Given the description of an element on the screen output the (x, y) to click on. 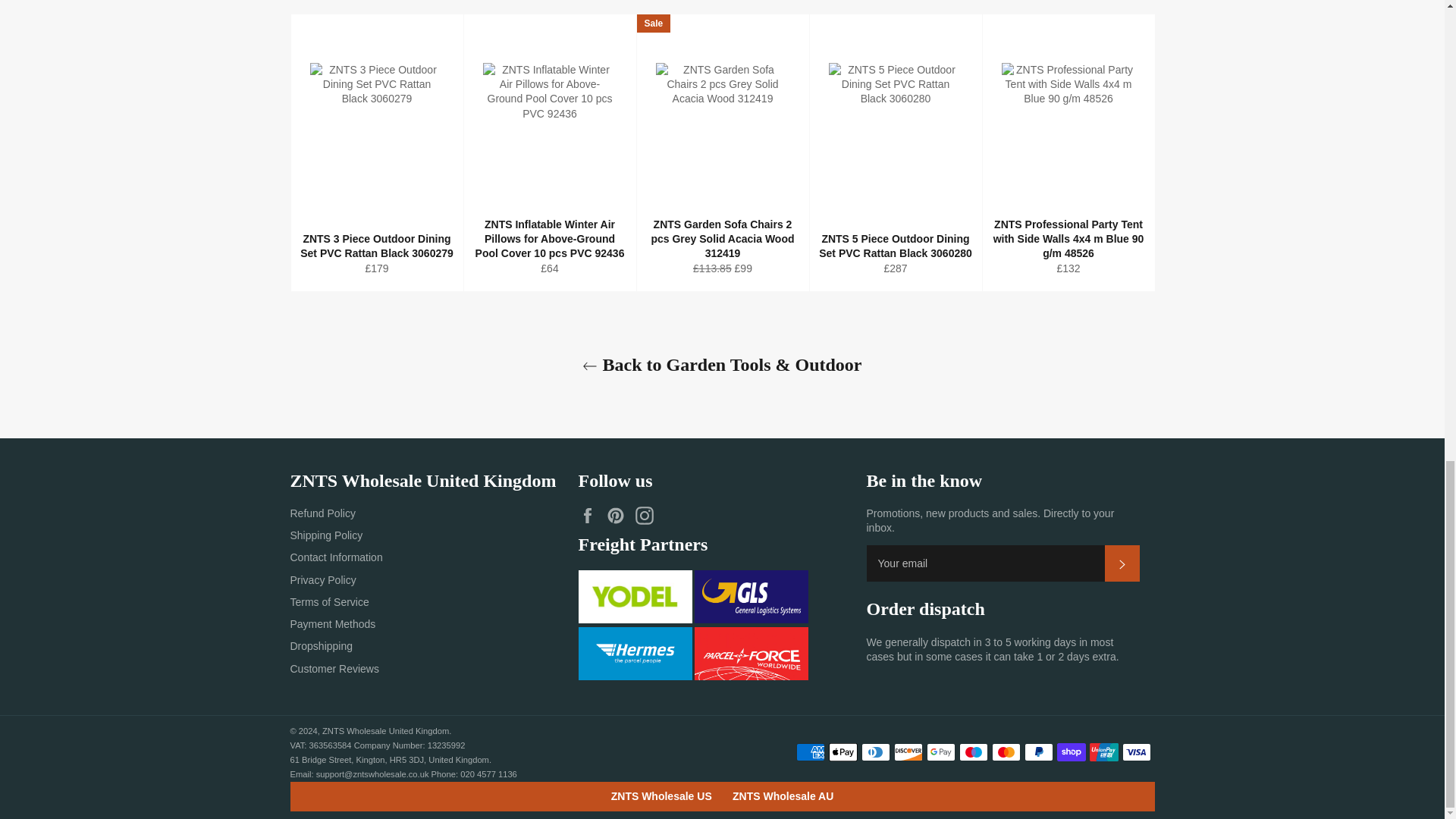
ZNTS Wholesale United Kingdom on Facebook (591, 515)
ZNTS Wholesale United Kingdom on Pinterest (619, 515)
ZNTS Wholesale United Kingdom on Instagram (647, 515)
